Given the description of an element on the screen output the (x, y) to click on. 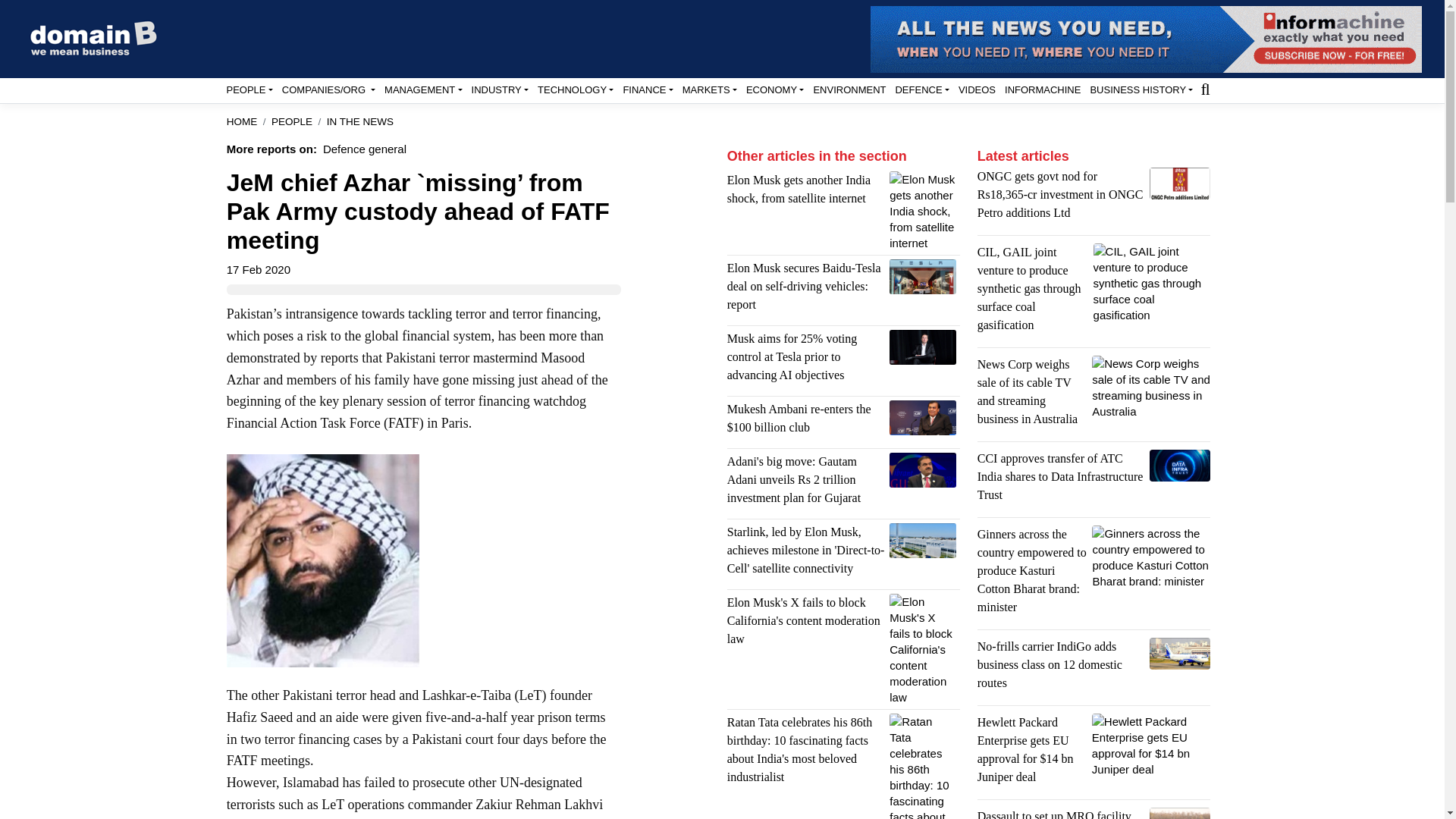
PEOPLE (248, 89)
